Given the description of an element on the screen output the (x, y) to click on. 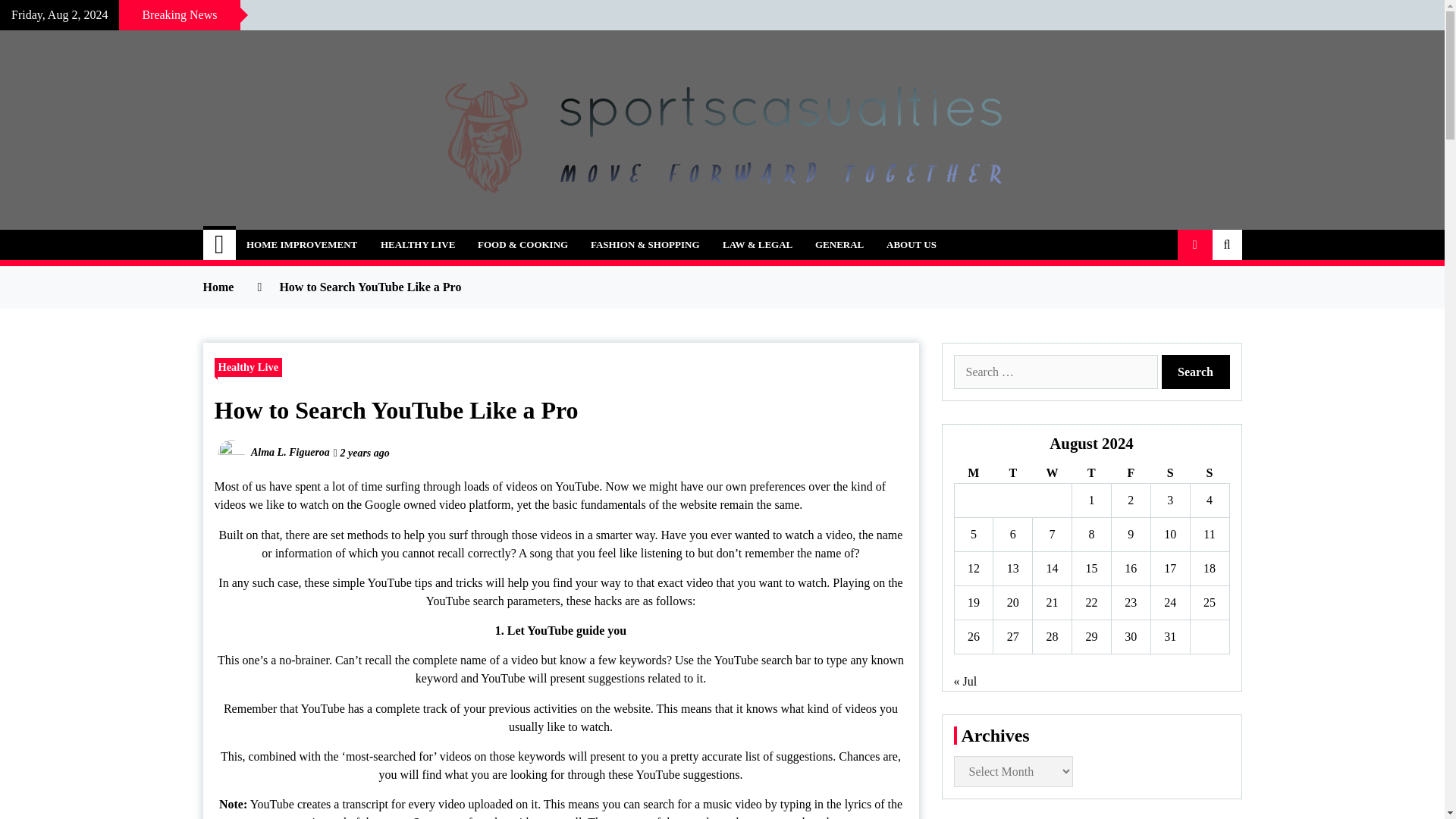
GENERAL (839, 245)
Monday (972, 473)
Wednesday (1051, 473)
HEALTHY LIVE (417, 245)
Sunday (1208, 473)
Search (1195, 371)
Friday (1130, 473)
Search (1195, 371)
Tuesday (1012, 473)
ABOUT US (911, 245)
Saturday (1169, 473)
Thursday (1091, 473)
sportscasualties (316, 236)
Home (219, 245)
HOME IMPROVEMENT (301, 245)
